Given the description of an element on the screen output the (x, y) to click on. 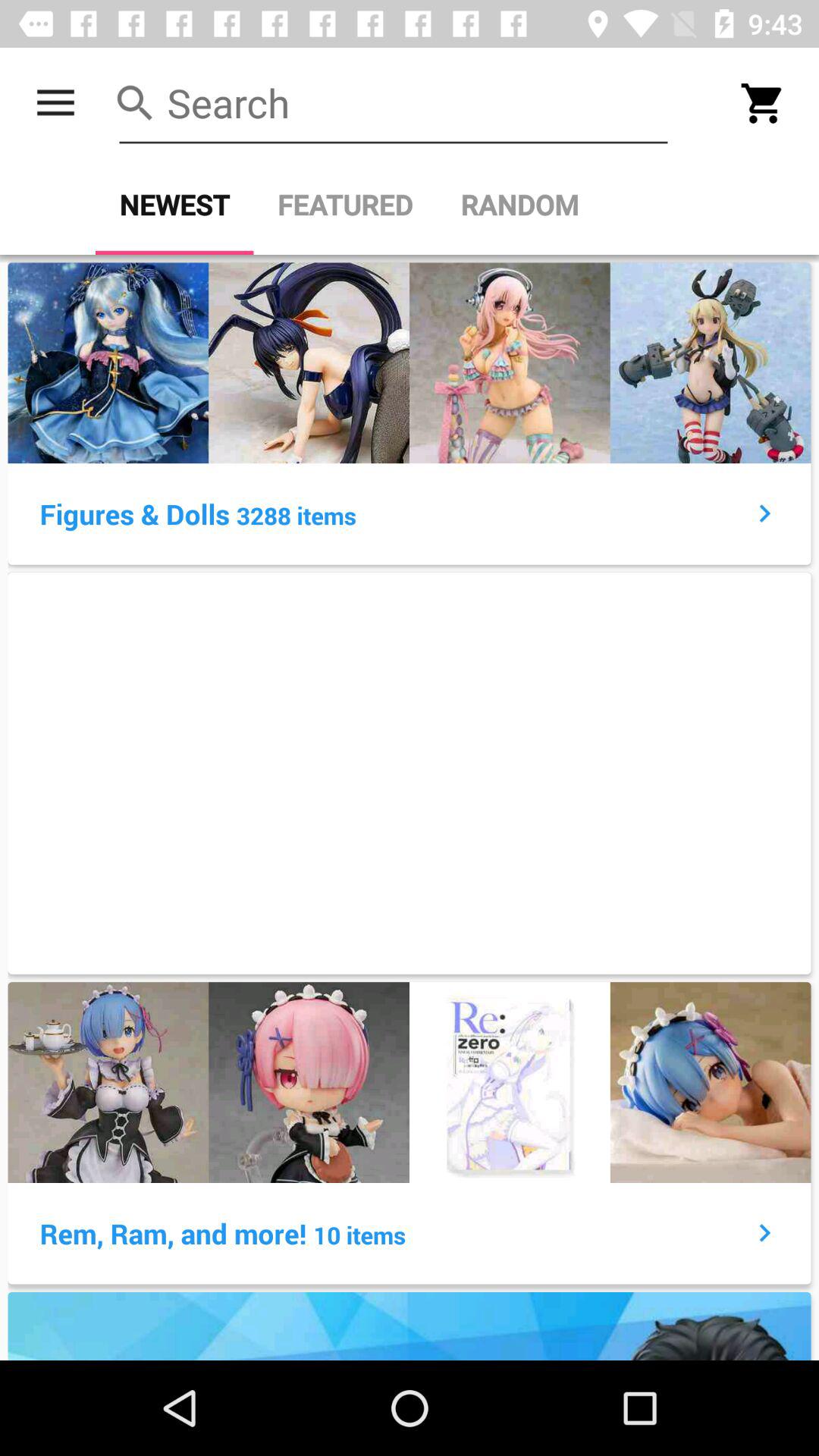
tap the random icon (519, 204)
